Given the description of an element on the screen output the (x, y) to click on. 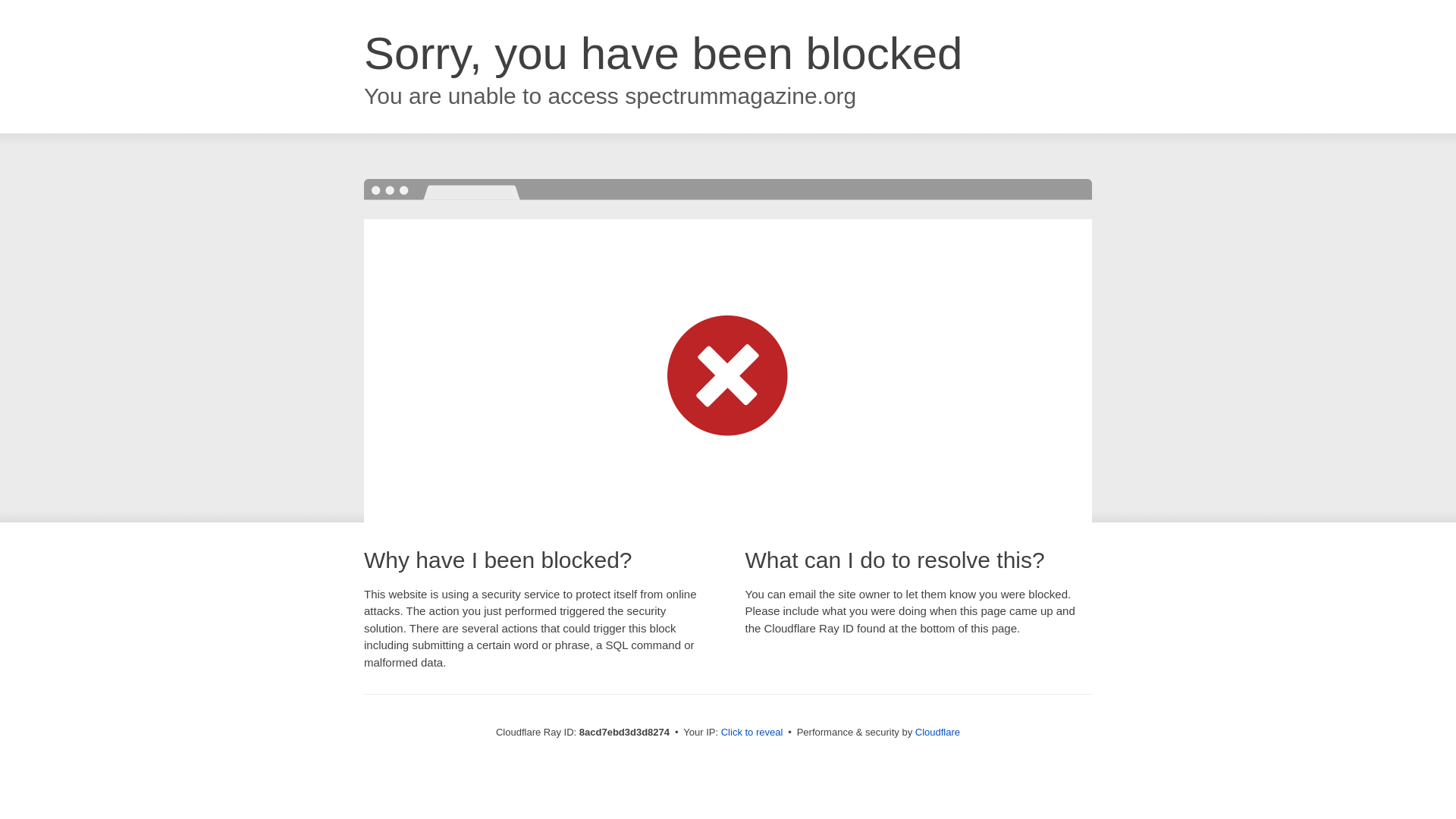
Click to reveal (751, 732)
Cloudflare (937, 731)
